Given the description of an element on the screen output the (x, y) to click on. 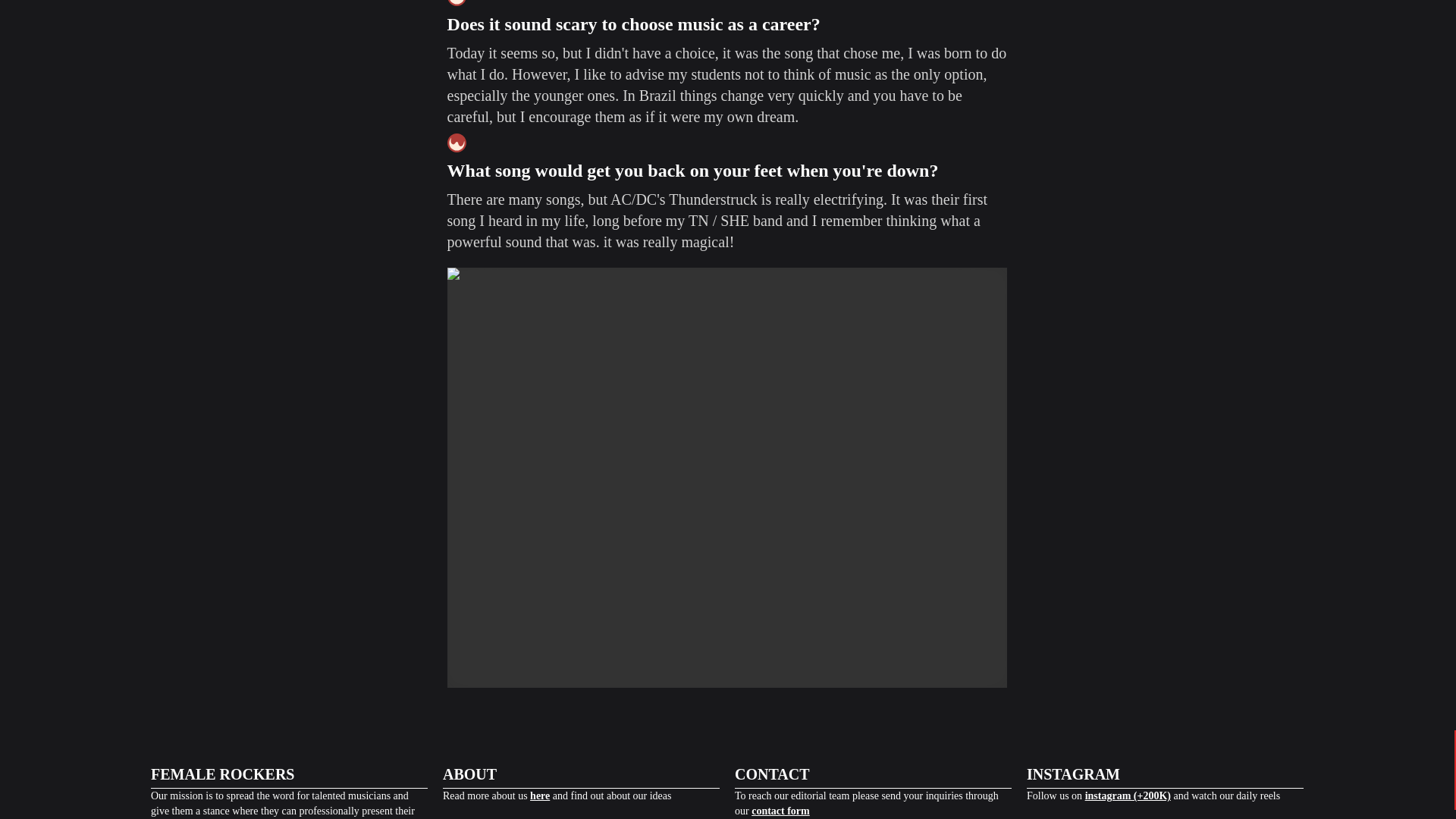
contact form (780, 810)
here (539, 795)
